Given the description of an element on the screen output the (x, y) to click on. 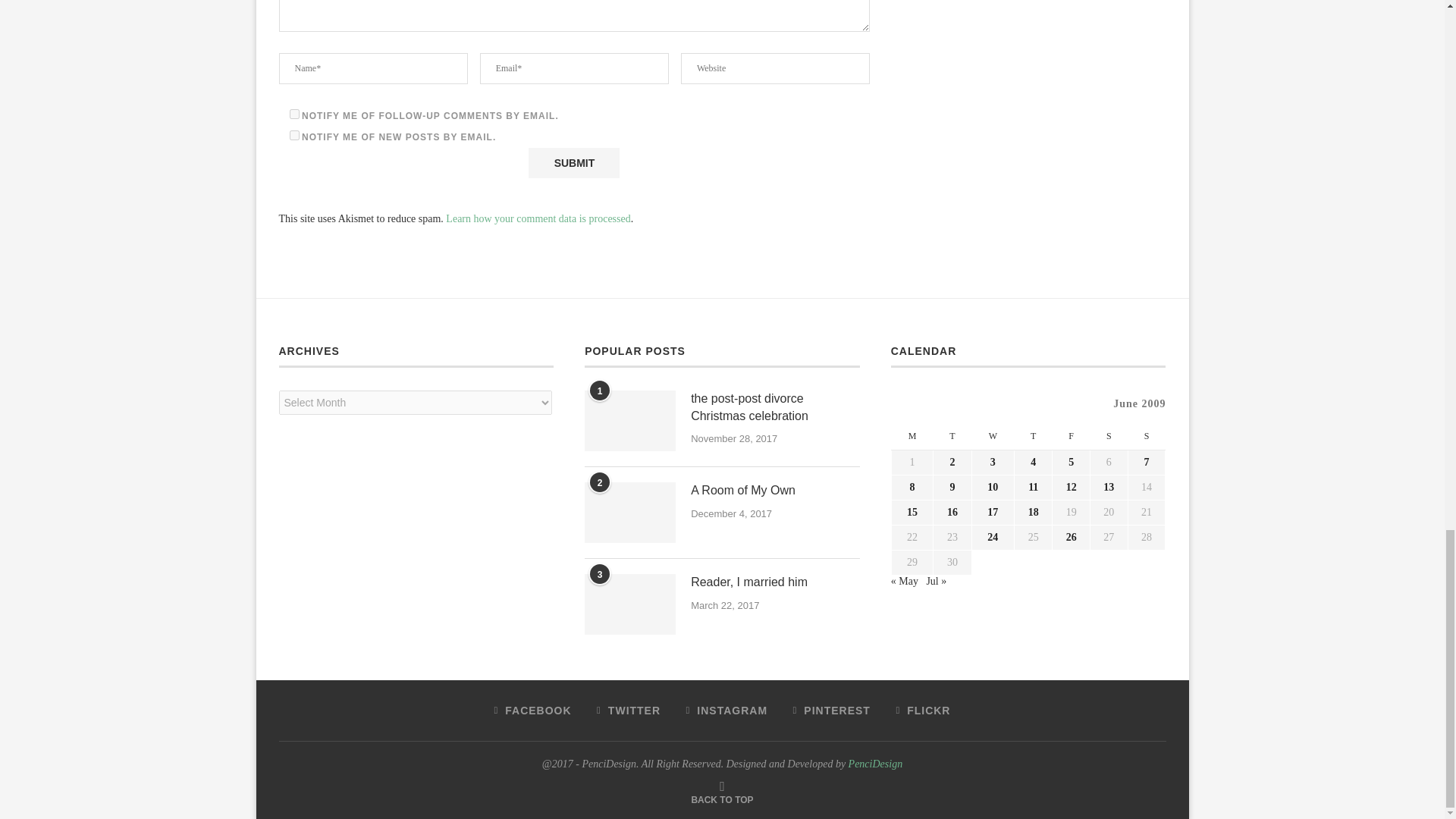
subscribe (294, 113)
Submit (574, 163)
subscribe (294, 135)
